Given the description of an element on the screen output the (x, y) to click on. 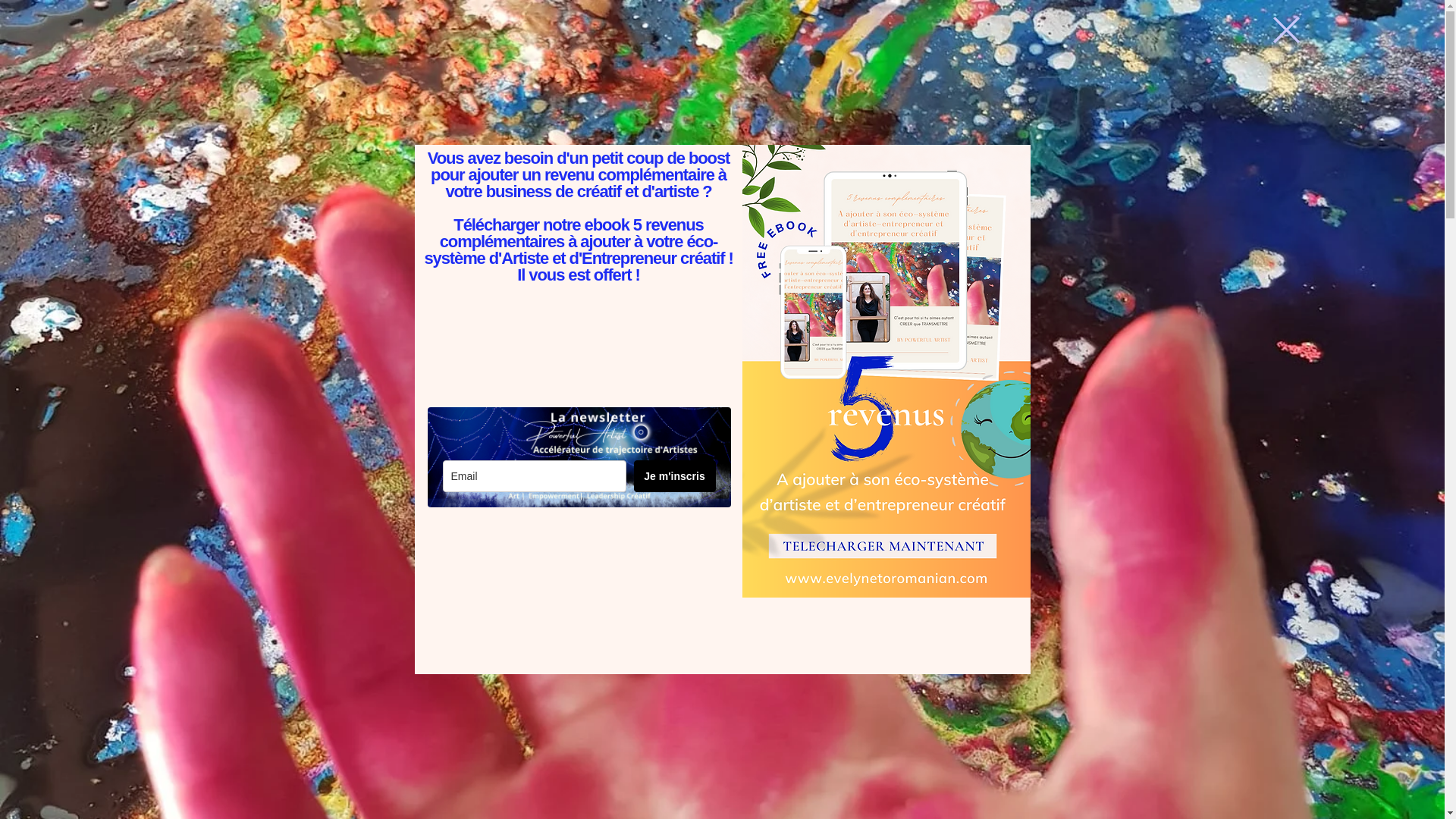
ART SHOP (521, 428)
BLOG (433, 35)
Exhibition (928, 35)
Back to site (714, 233)
2 min read (1285, 29)
Creative Feminine Leadership (791, 336)
Log In (587, 233)
Embedded Content (1163, 35)
HOME (578, 473)
Art (293, 35)
Tous les posts (475, 233)
CONTACT (401, 233)
Dec 14, 2022 (685, 35)
